Given the description of an element on the screen output the (x, y) to click on. 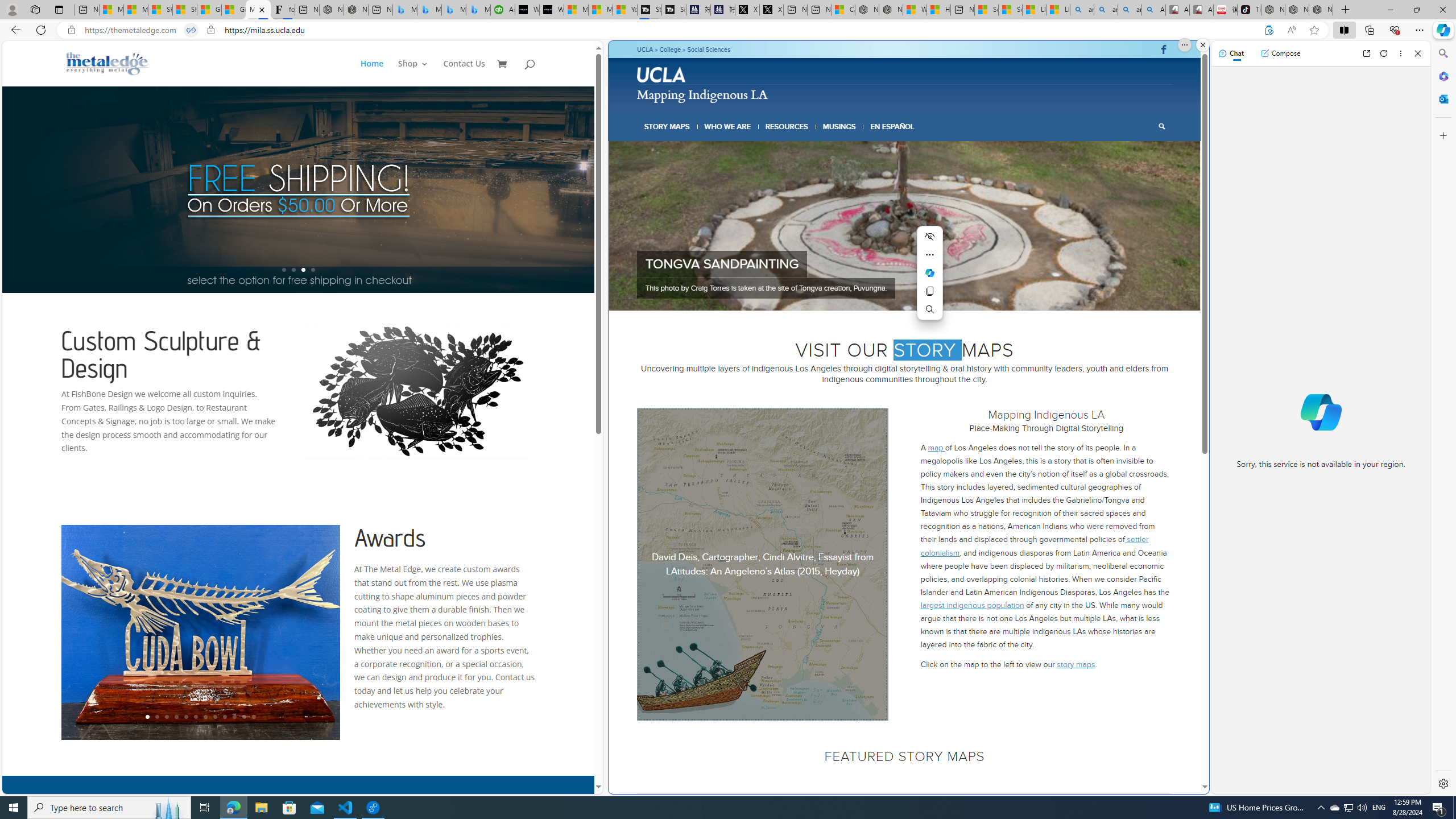
Search (1161, 126)
UCLA logo (661, 74)
App bar (728, 29)
Collections (1369, 29)
Settings and more (Alt+F) (1419, 29)
Chat (1231, 52)
Wildlife - MSN (914, 9)
Microsoft Bing Travel - Shangri-La Hotel Bangkok (478, 9)
Copilot (Ctrl+Shift+.) (1442, 29)
Accounting Software for Accountants, CPAs and Bookkeepers (502, 9)
 settler colonialism (1034, 545)
Search (1442, 53)
STORY MAPS (667, 126)
